Given the description of an element on the screen output the (x, y) to click on. 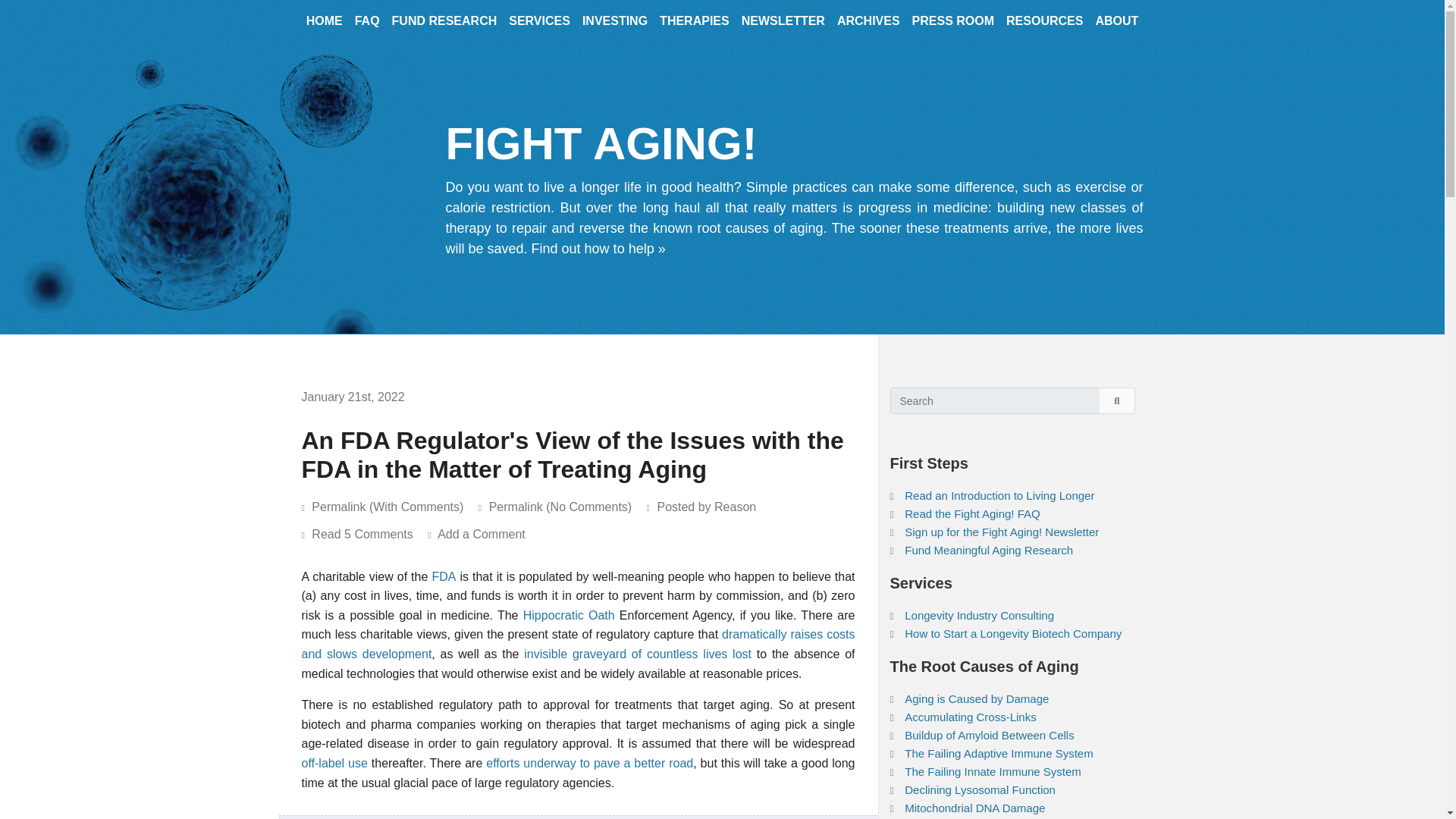
NEWSLETTER (783, 26)
SERVICES (539, 26)
dramatically raises costs and slows development (578, 644)
THERAPIES (694, 26)
Add a Comment (487, 533)
ABOUT (1116, 26)
Read 5 Comments (369, 533)
FUND RESEARCH (444, 26)
FDA (442, 576)
invisible graveyard of countless lives lost (637, 653)
FAQ (367, 26)
off-label use (334, 762)
ARCHIVES (868, 26)
Hippocratic Oath (568, 615)
PRESS ROOM (952, 26)
